Given the description of an element on the screen output the (x, y) to click on. 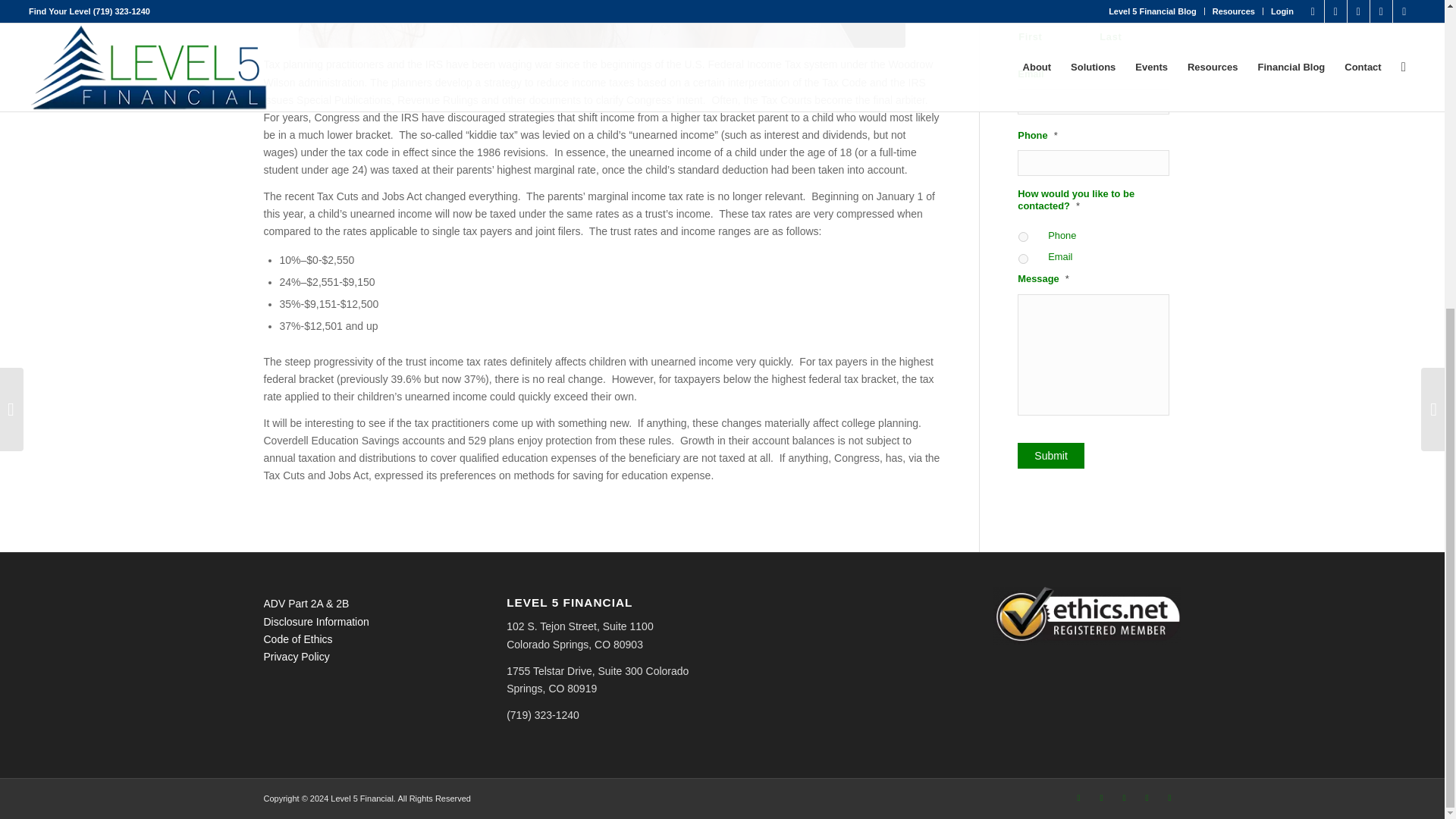
Youtube (1146, 797)
Twitter (1124, 797)
Facebook (1078, 797)
Privacy Policy (296, 656)
Phone (1022, 236)
LinkedIn (1101, 797)
Submit (1050, 455)
Submit (1050, 455)
Email (1022, 258)
Disclosure Information (316, 621)
Instagram (1169, 797)
Code of Ethics (298, 639)
